Given the description of an element on the screen output the (x, y) to click on. 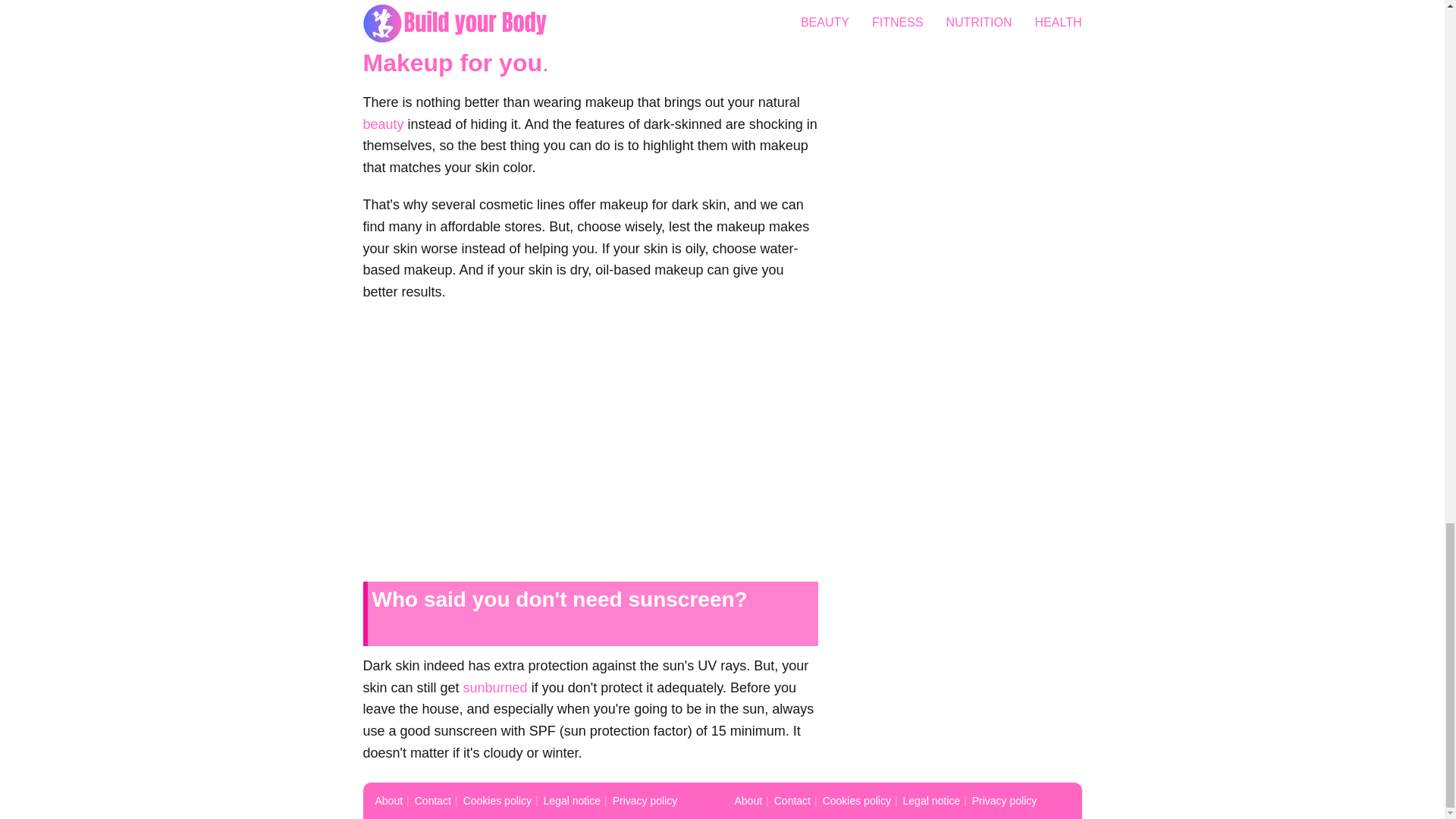
beauty (382, 124)
Cookies policy (856, 800)
About (747, 800)
sensitive skin (403, 6)
About (388, 800)
Legal notice (572, 800)
Privacy policy (645, 800)
Contact (432, 800)
Legal notice (931, 800)
Cookies policy (497, 800)
sunburned (495, 687)
Privacy policy (1004, 800)
Contact (792, 800)
